Given the description of an element on the screen output the (x, y) to click on. 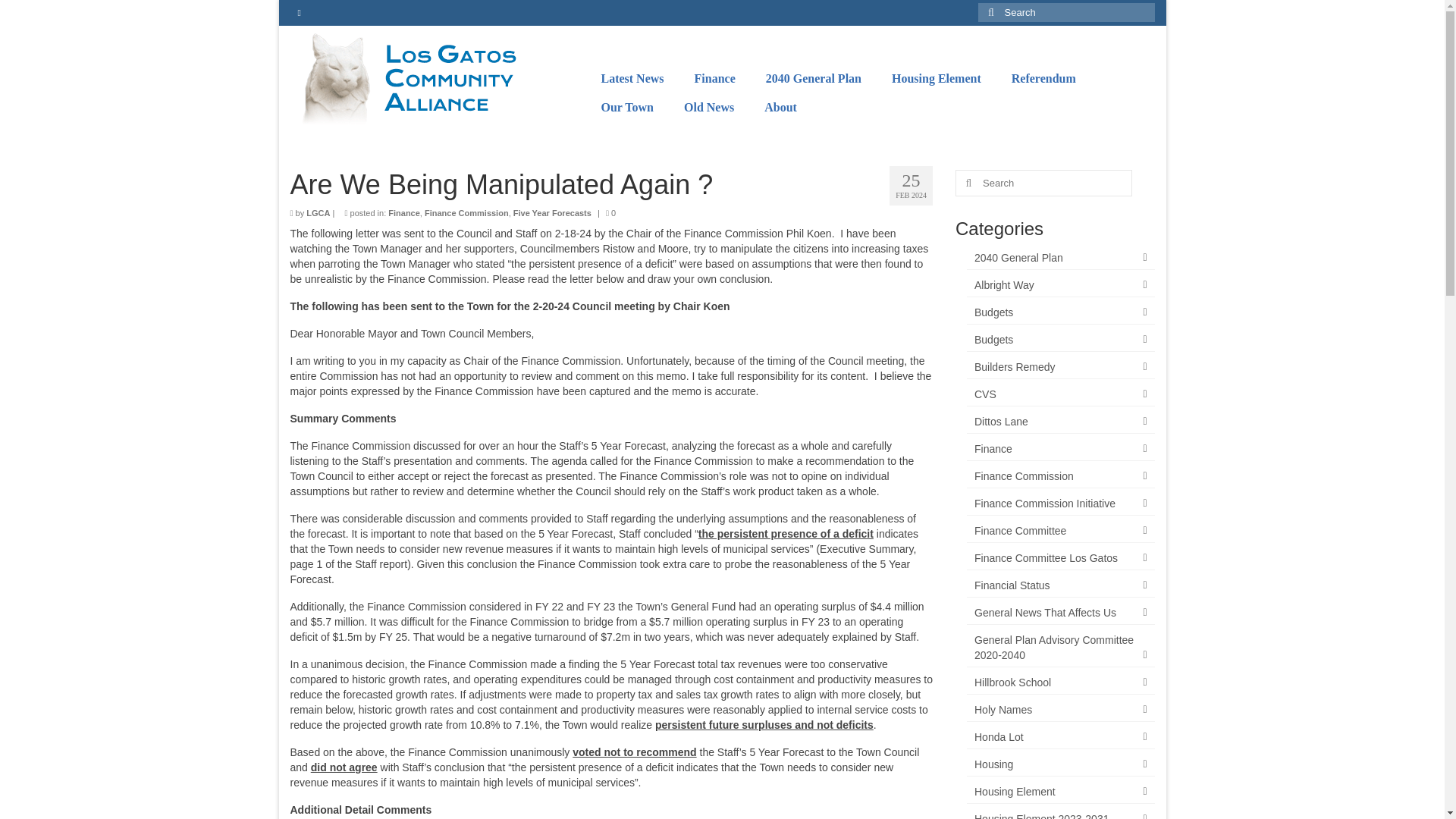
Referendum (1042, 78)
2040 General Plan (813, 78)
About (780, 107)
Finance (715, 78)
Old News (708, 107)
Latest News (631, 78)
Our Town (626, 107)
Housing Element (935, 78)
